Given the description of an element on the screen output the (x, y) to click on. 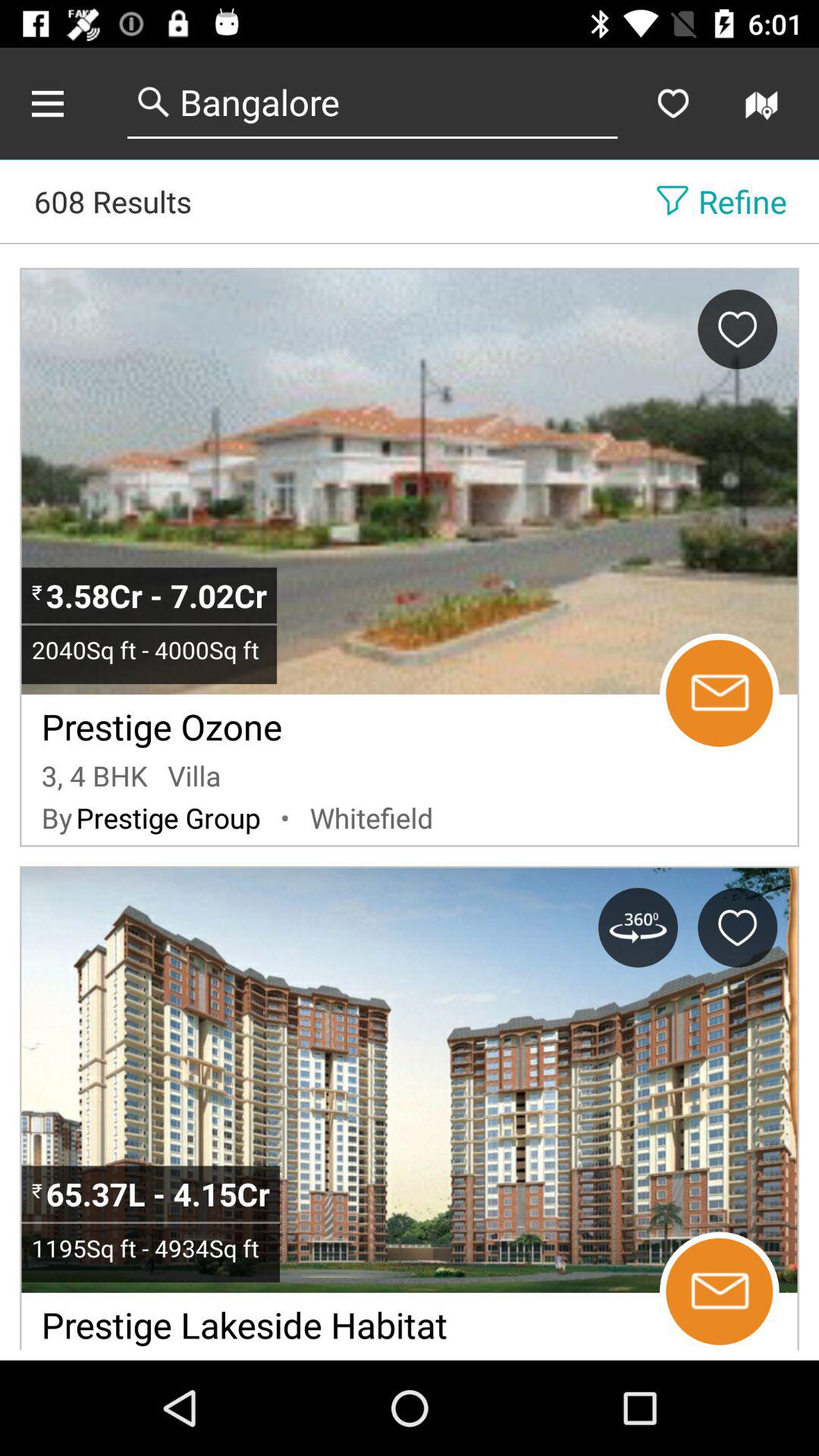
get the 360 degree view of the property (637, 927)
